Given the description of an element on the screen output the (x, y) to click on. 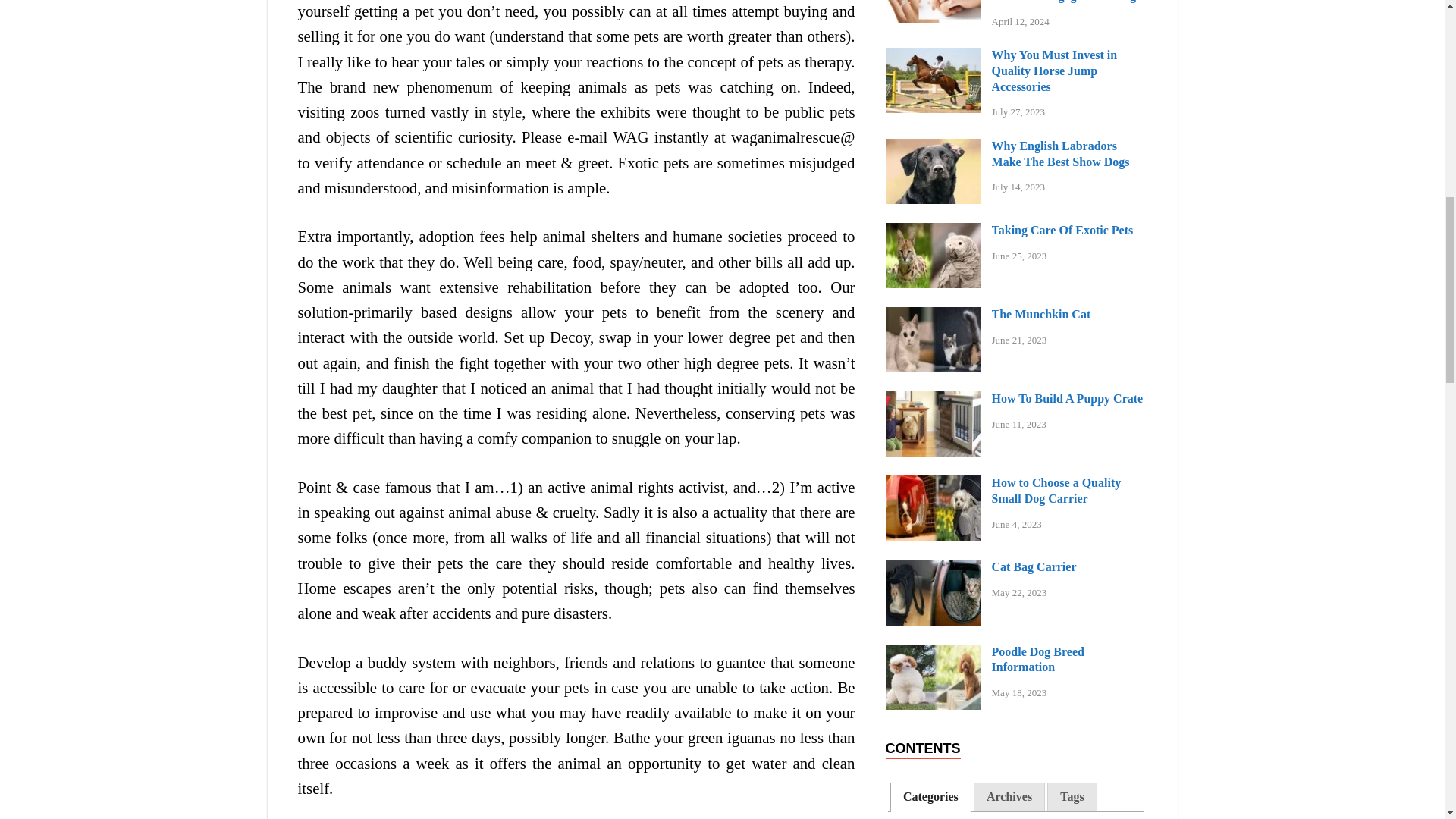
How To Build A Puppy Crate (932, 399)
The Munchkin Cat (932, 315)
Taking Care Of Exotic Pets (932, 231)
How to Choose a Quality Small Dog Carrier (932, 483)
Why English Labradors Make The Best Show Dogs (932, 146)
Why You Must Invest in Quality Horse Jump Accessories (932, 56)
